Given the description of an element on the screen output the (x, y) to click on. 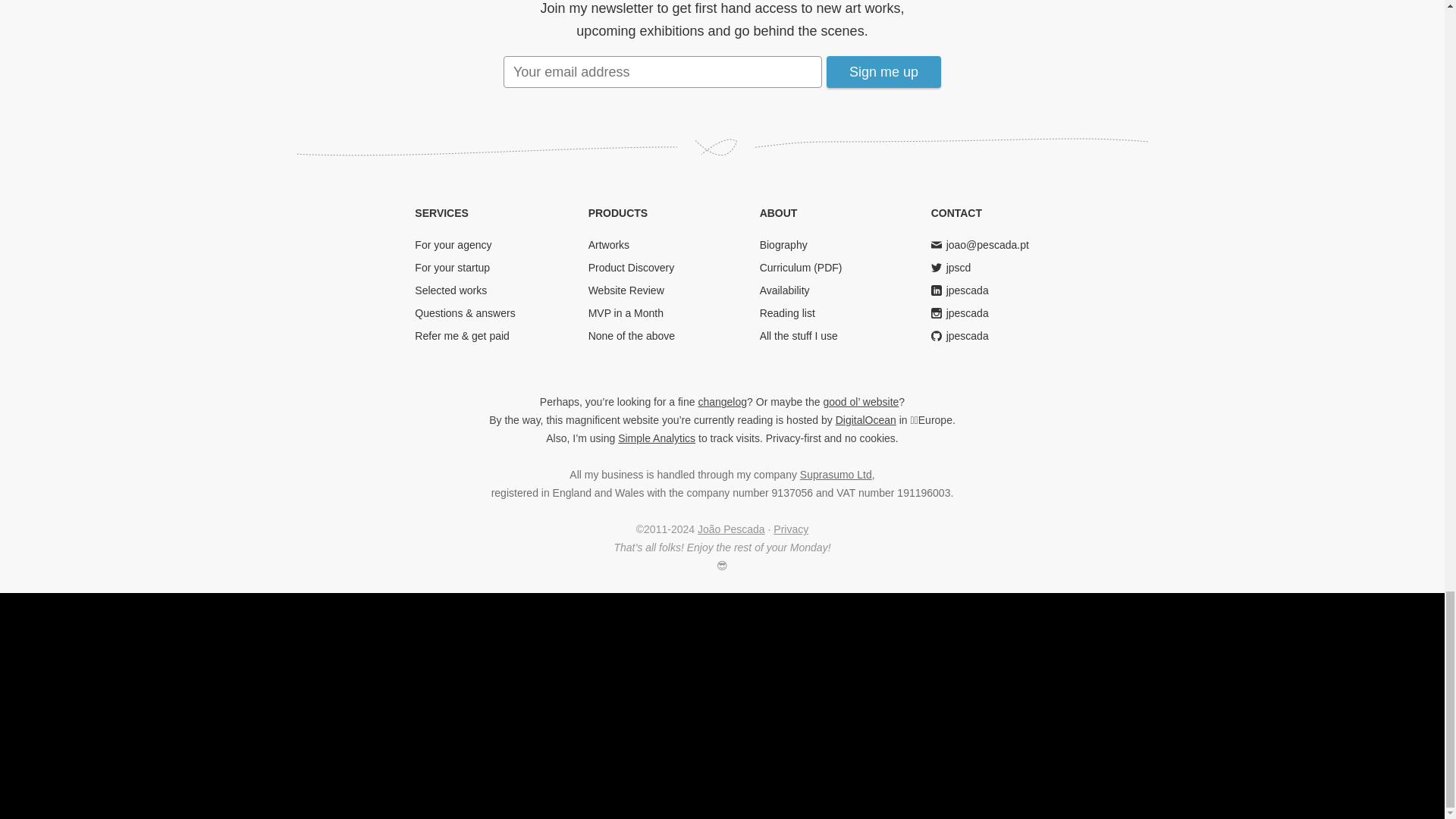
jpescada (967, 336)
jpescada (967, 313)
CONTACT (956, 213)
changelog (721, 401)
LinkedIn (967, 290)
Availability (784, 290)
jpscd (958, 267)
Sign me up (883, 71)
Selected works (450, 290)
Artworks (608, 244)
